Given the description of an element on the screen output the (x, y) to click on. 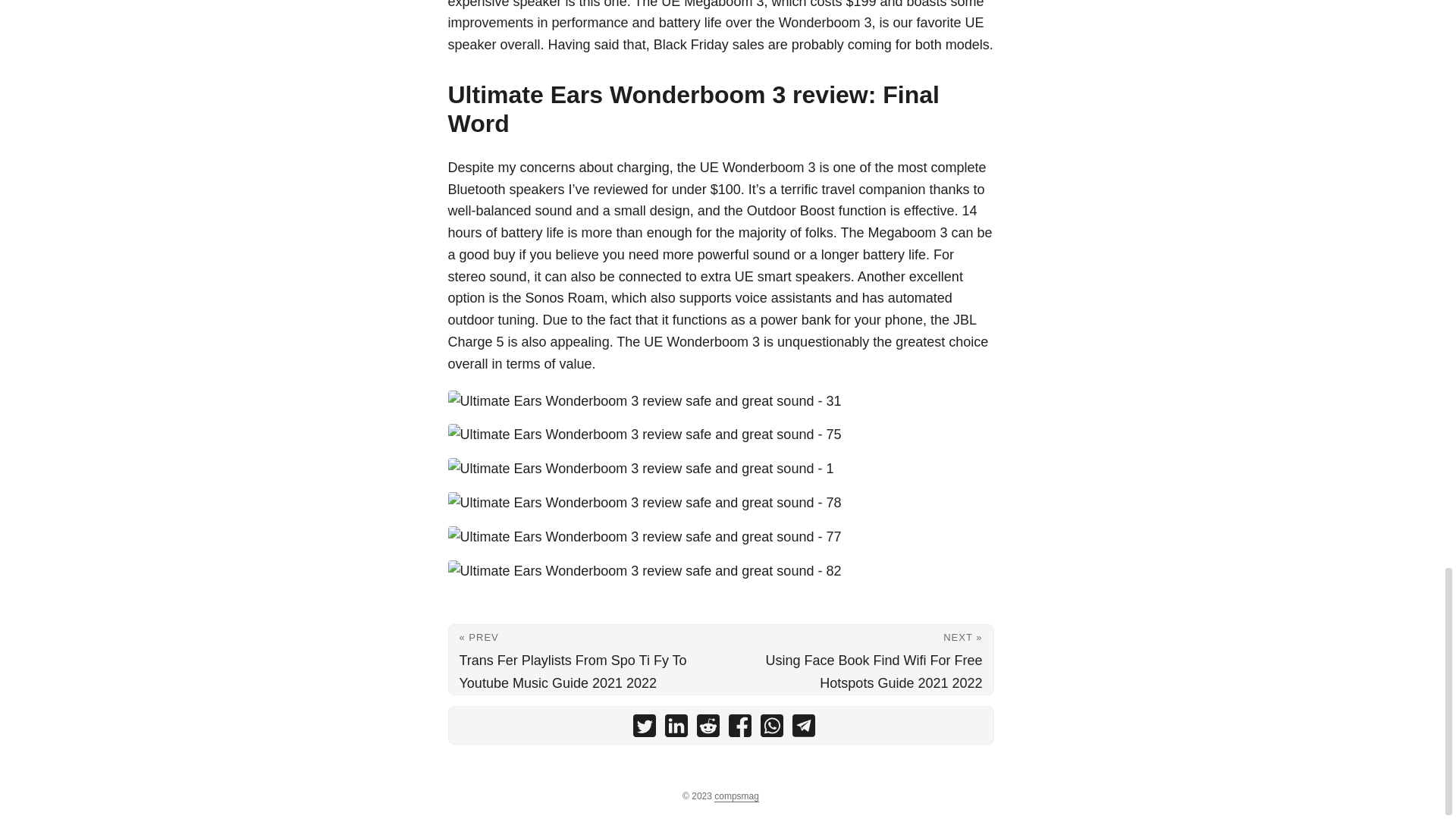
compsmag (736, 796)
